Given the description of an element on the screen output the (x, y) to click on. 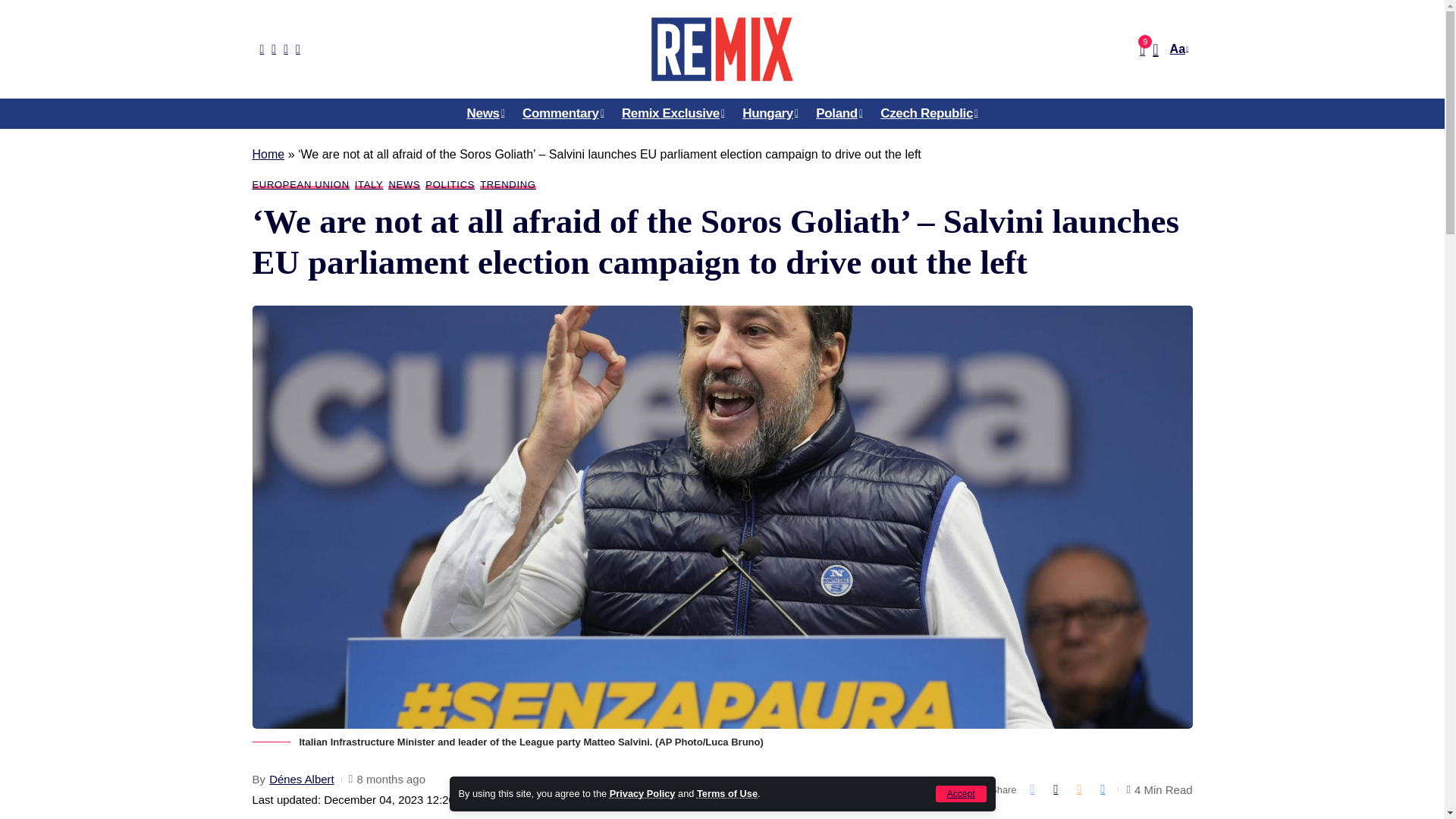
Privacy Policy (642, 793)
Remix News (721, 48)
Accept (961, 793)
Terms of Use (727, 793)
9 (1142, 48)
